Given the description of an element on the screen output the (x, y) to click on. 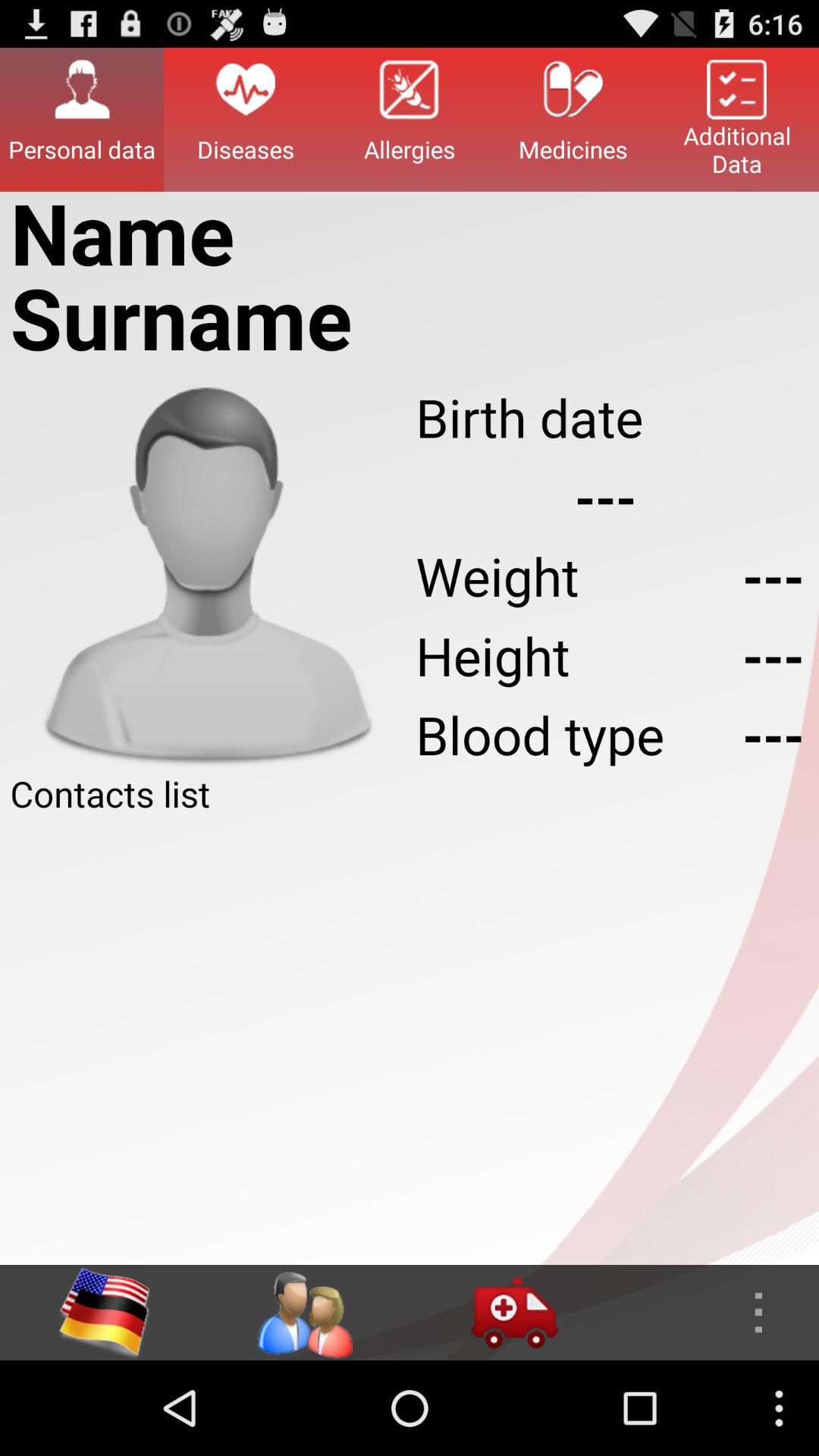
comment box (409, 1041)
